Given the description of an element on the screen output the (x, y) to click on. 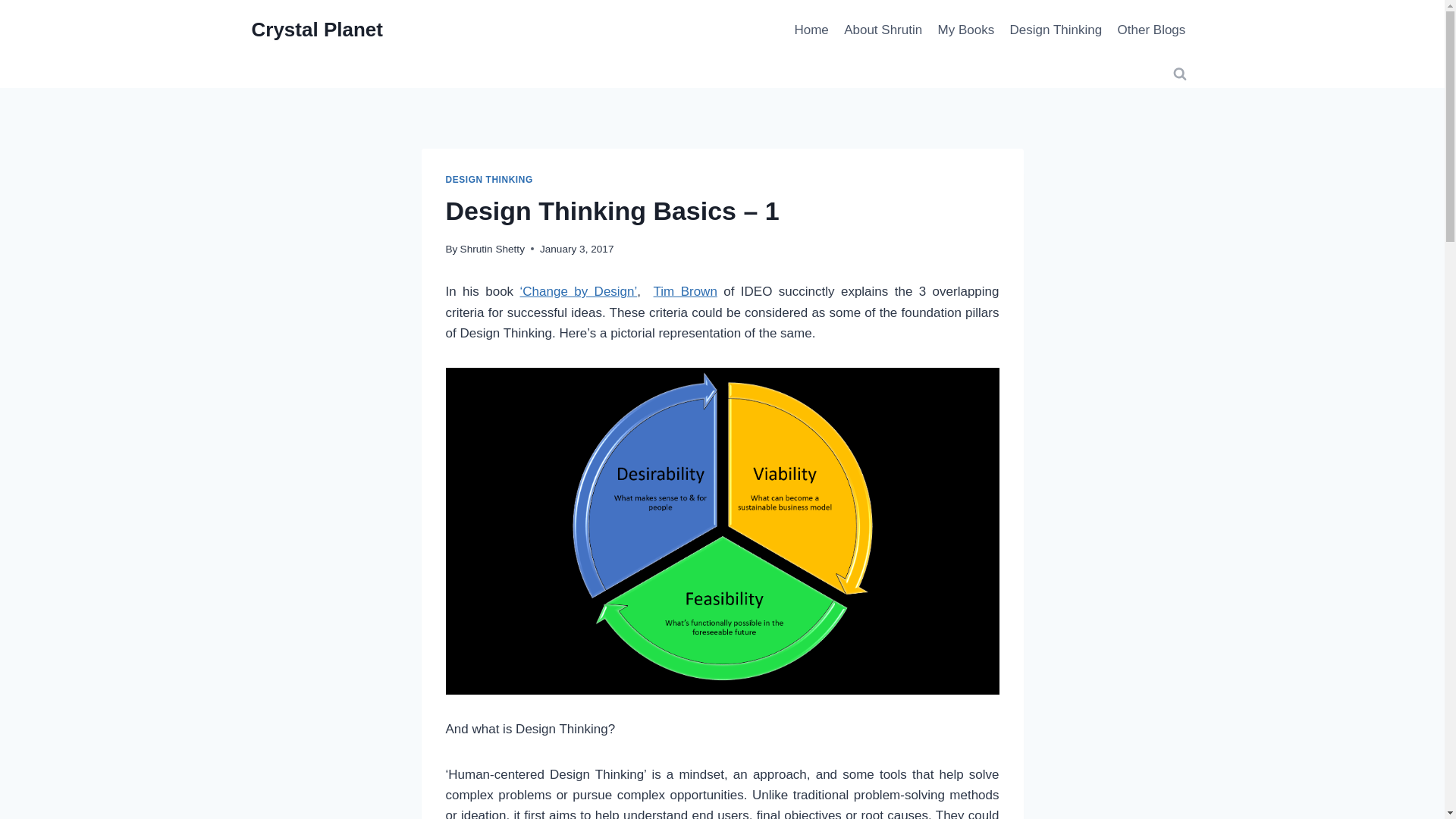
My Books (965, 30)
Crystal Planet (316, 29)
DESIGN THINKING (488, 179)
About Shrutin (882, 30)
Shrutin Shetty (492, 248)
Tim Brown (685, 291)
Other Blogs (1150, 30)
Home (810, 30)
Design Thinking (1055, 30)
